Given the description of an element on the screen output the (x, y) to click on. 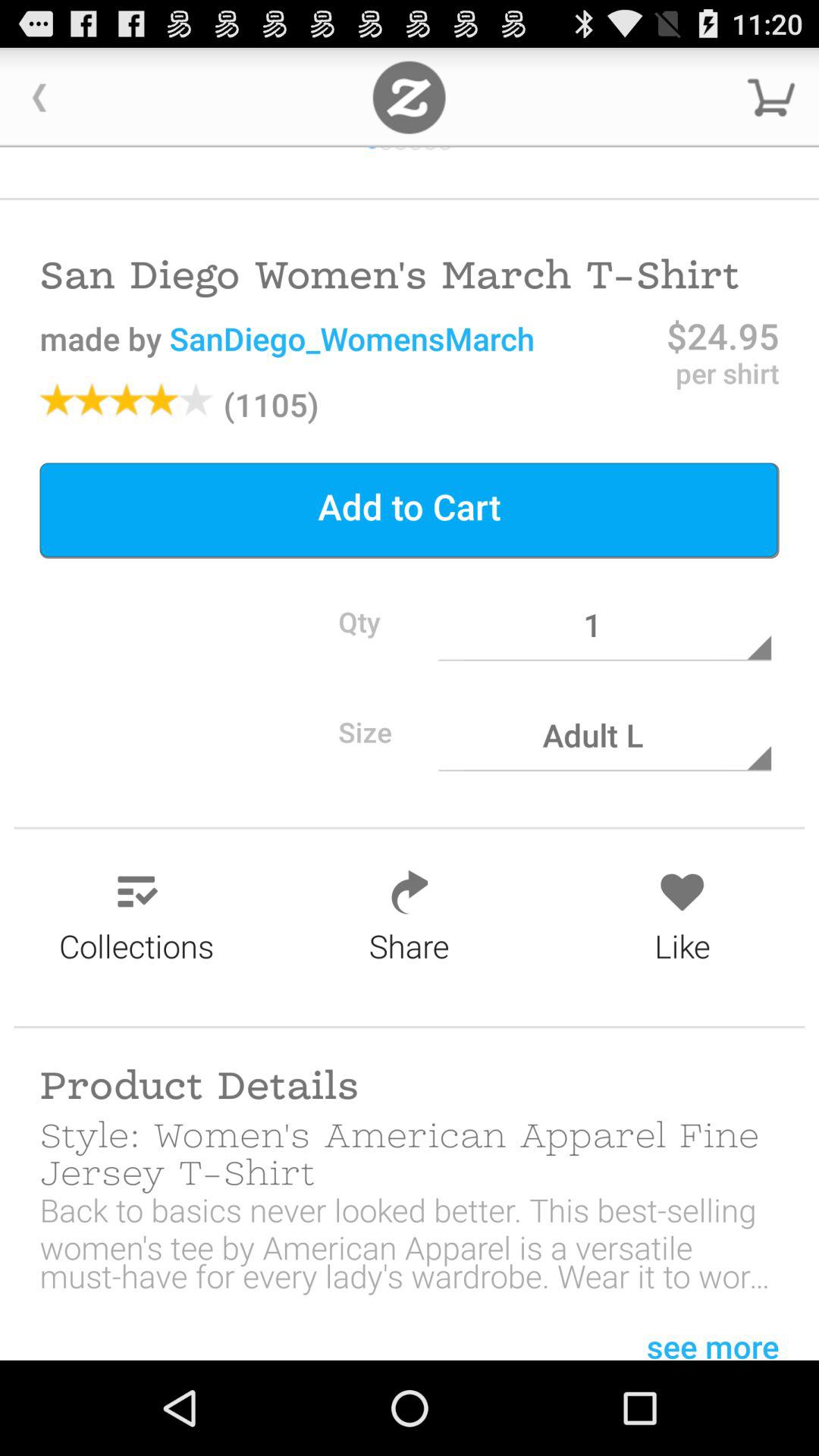
adverstment zoon in the box (408, 97)
